Given the description of an element on the screen output the (x, y) to click on. 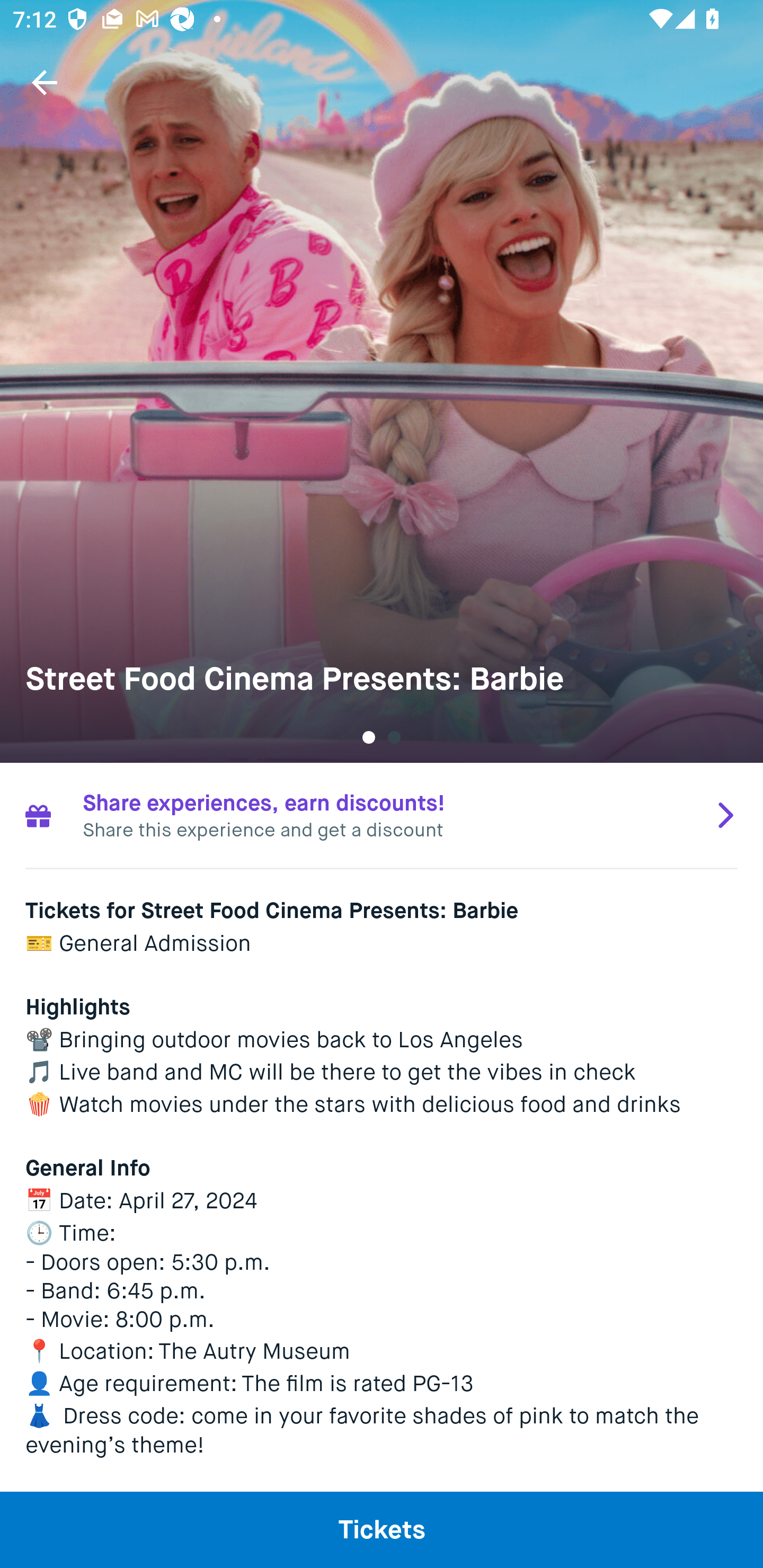
Navigate up (44, 82)
Tickets (381, 1529)
